Given the description of an element on the screen output the (x, y) to click on. 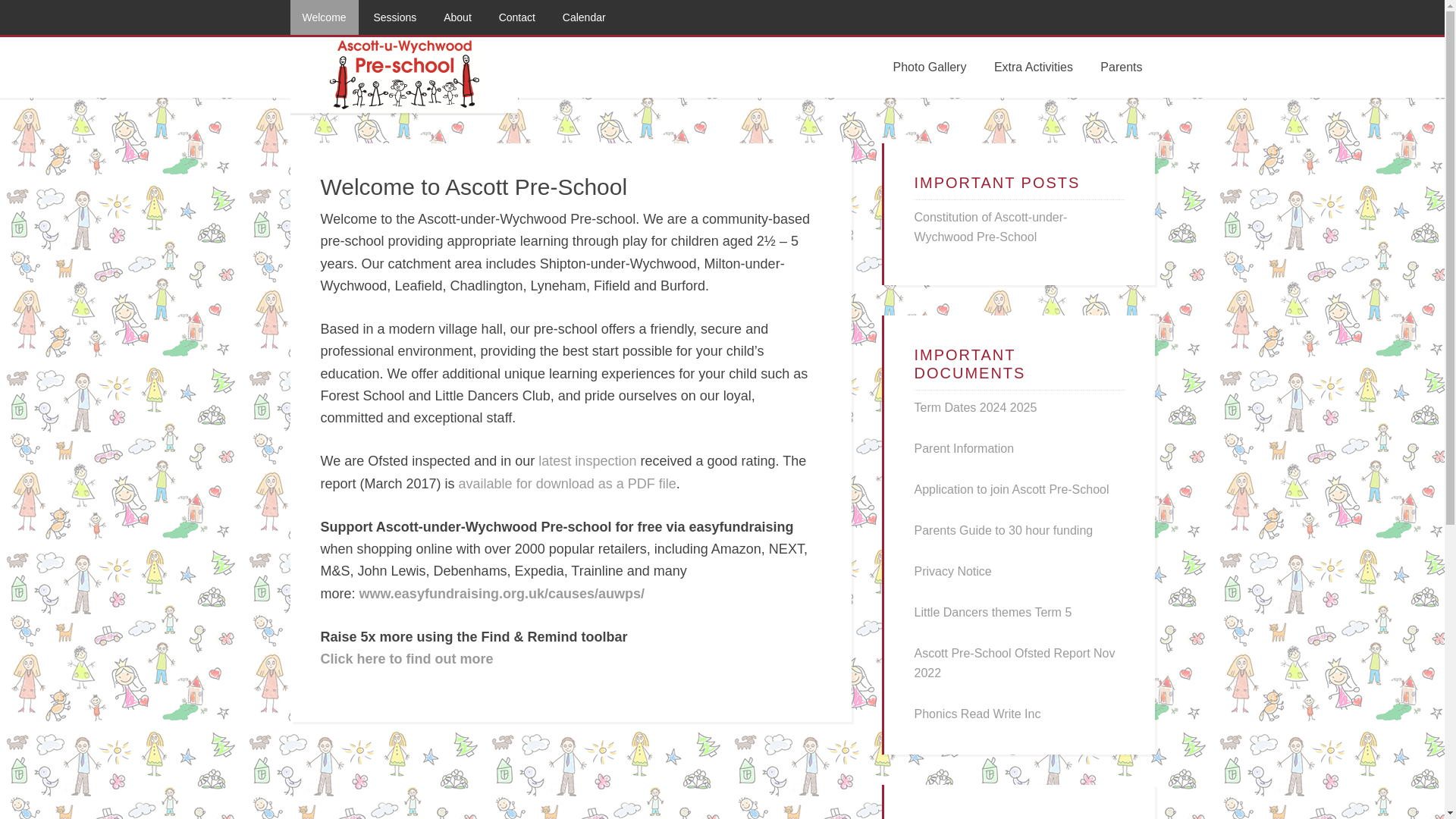
ASCOTT PRE-SCHOOL (402, 74)
Little Dancers themes Term 5 (992, 612)
Parent Information (964, 448)
Phonics Read Write Inc (977, 713)
Application to join Ascott Pre-School (1011, 489)
Photo Gallery (929, 66)
latest inspection (587, 460)
Extra Activities (1032, 66)
Welcome (323, 17)
Sessions (394, 17)
